Given the description of an element on the screen output the (x, y) to click on. 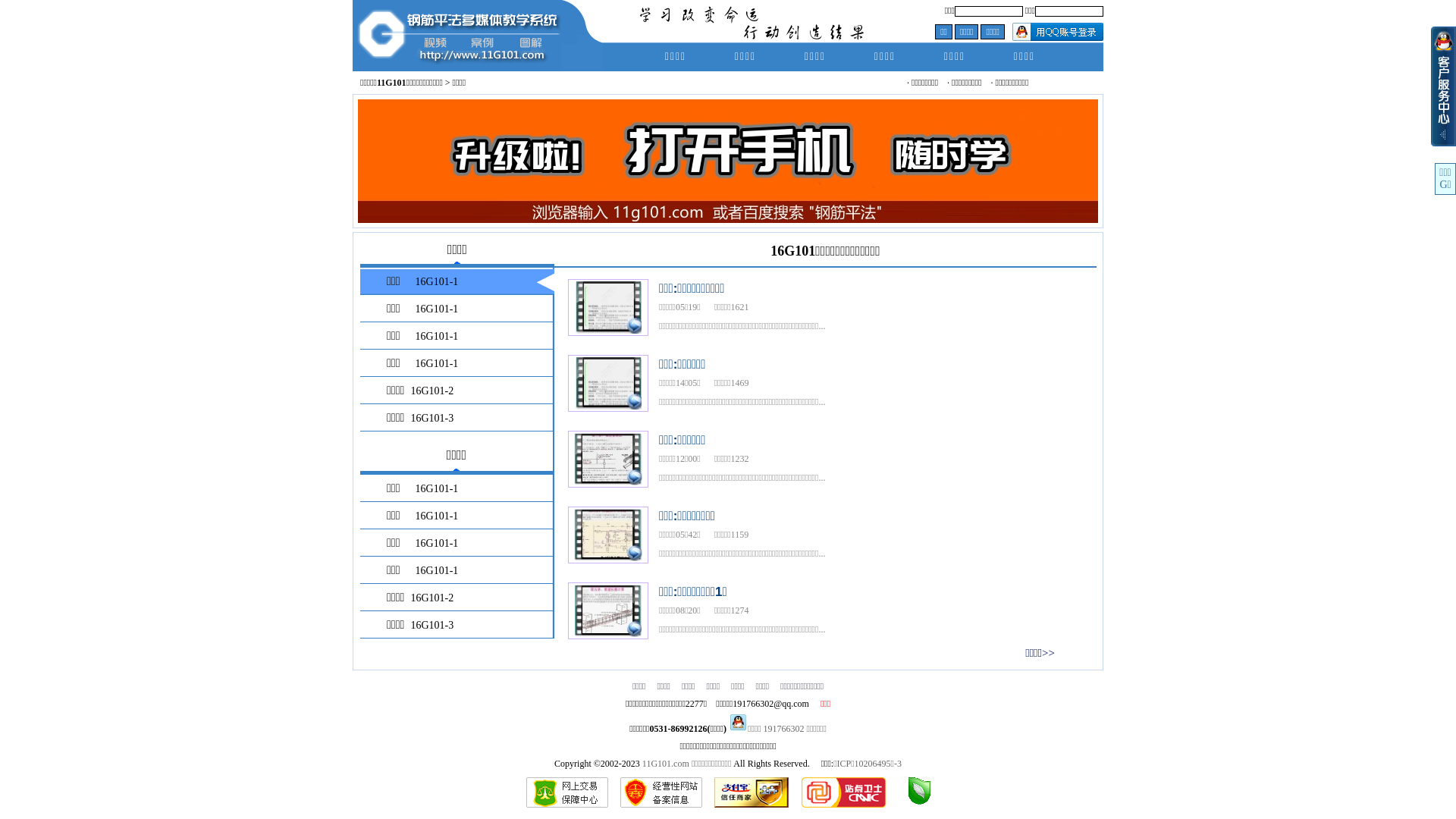
11G101.com Element type: text (665, 763)
